Given the description of an element on the screen output the (x, y) to click on. 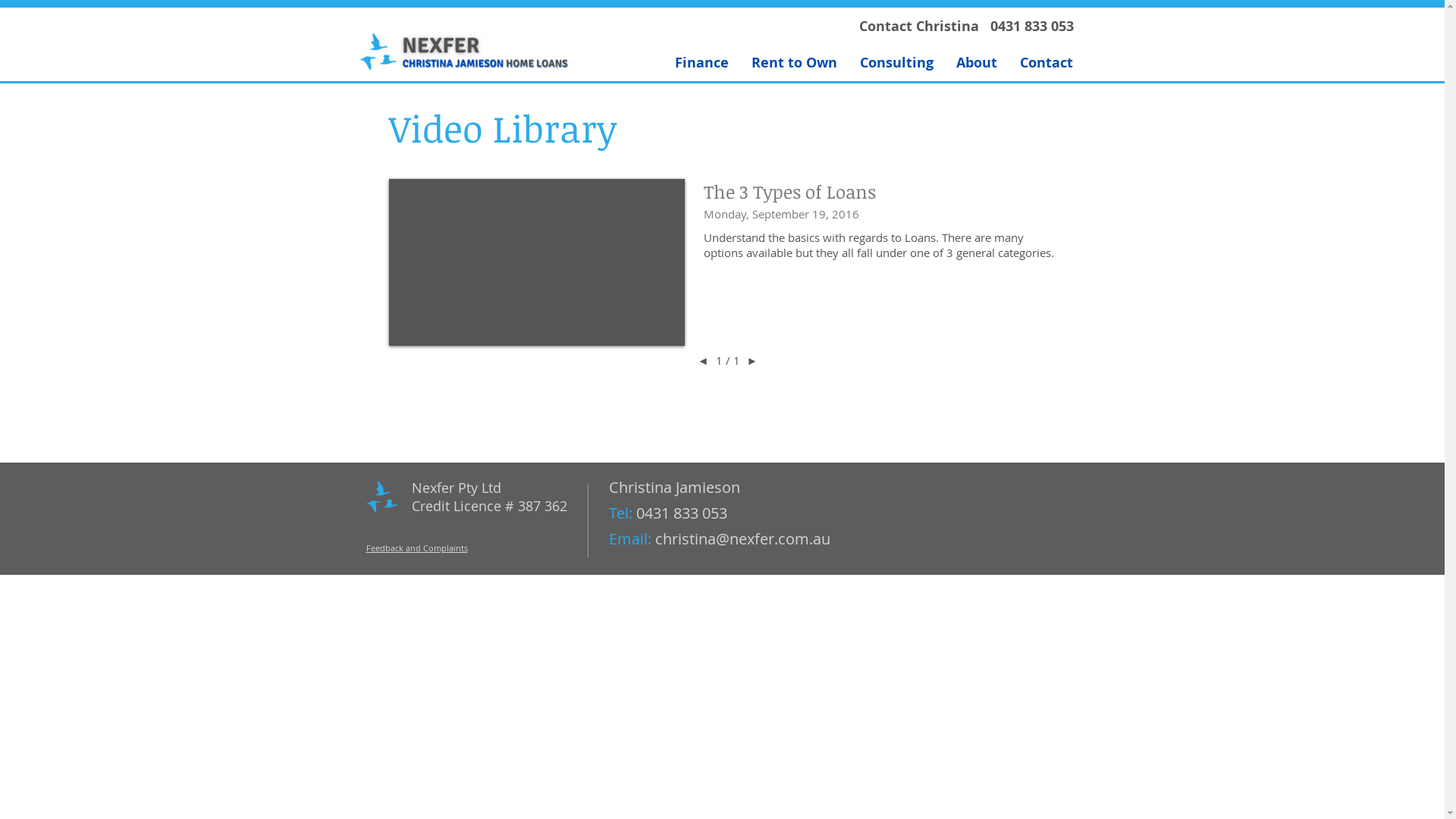
Nexfer2016-Logo.jpg Element type: hover (463, 50)
Feedback and Complaints Element type: text (416, 547)
External Vimeo Element type: hover (536, 261)
Consulting Element type: text (895, 62)
Rent to Own Element type: text (794, 62)
Contact Element type: text (1046, 62)
About Element type: text (976, 62)
christina@nexfer.com.au Element type: text (742, 538)
Finance Element type: text (700, 62)
